Given the description of an element on the screen output the (x, y) to click on. 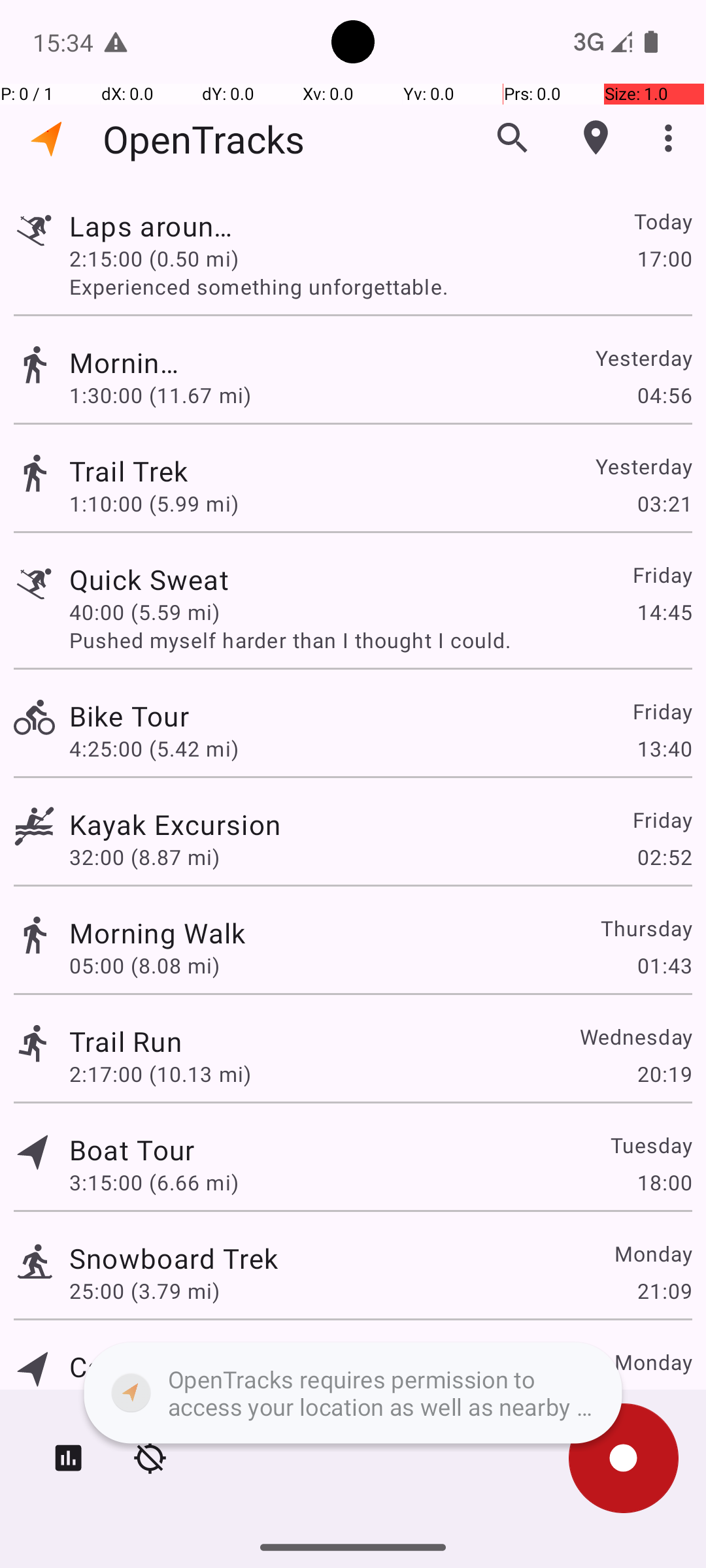
OpenTracks Element type: android.widget.TextView (203, 138)
Markers Element type: android.widget.Button (595, 137)
Record Element type: android.widget.ImageButton (623, 1458)
Track Element type: android.widget.ImageView (33, 227)
Laps around the lake Element type: android.widget.TextView (157, 225)
Today Element type: android.widget.TextView (662, 221)
2:15:00 (0.50 mi) Element type: android.widget.TextView (153, 258)
17:00 Element type: android.widget.TextView (664, 258)
Experienced something unforgettable. Element type: android.widget.TextView (380, 286)
Morning Walk Element type: android.widget.TextView (125, 361)
Yesterday Element type: android.widget.TextView (643, 357)
1:30:00 (11.67 mi) Element type: android.widget.TextView (159, 394)
04:56 Element type: android.widget.TextView (664, 394)
Trail Trek Element type: android.widget.TextView (131, 470)
1:10:00 (5.99 mi) Element type: android.widget.TextView (153, 503)
03:21 Element type: android.widget.TextView (664, 503)
Quick Sweat Element type: android.widget.TextView (173, 578)
Friday Element type: android.widget.TextView (661, 574)
40:00 (5.59 mi) Element type: android.widget.TextView (144, 611)
14:45 Element type: android.widget.TextView (664, 611)
Pushed myself harder than I thought I could. Element type: android.widget.TextView (380, 639)
Bike Tour Element type: android.widget.TextView (198, 715)
4:25:00 (5.42 mi) Element type: android.widget.TextView (153, 748)
13:40 Element type: android.widget.TextView (664, 748)
Kayak Excursion Element type: android.widget.TextView (174, 823)
32:00 (8.87 mi) Element type: android.widget.TextView (144, 856)
02:52 Element type: android.widget.TextView (664, 856)
Thursday Element type: android.widget.TextView (645, 928)
05:00 (8.08 mi) Element type: android.widget.TextView (144, 965)
01:43 Element type: android.widget.TextView (664, 965)
Trail Run Element type: android.widget.TextView (125, 1040)
Wednesday Element type: android.widget.TextView (635, 1036)
2:17:00 (10.13 mi) Element type: android.widget.TextView (159, 1073)
20:19 Element type: android.widget.TextView (664, 1073)
Boat Tour Element type: android.widget.TextView (131, 1149)
Tuesday Element type: android.widget.TextView (650, 1144)
3:15:00 (6.66 mi) Element type: android.widget.TextView (153, 1182)
18:00 Element type: android.widget.TextView (664, 1182)
Snowboard Trek Element type: android.widget.TextView (173, 1257)
Monday Element type: android.widget.TextView (652, 1253)
25:00 (3.79 mi) Element type: android.widget.TextView (144, 1290)
21:09 Element type: android.widget.TextView (664, 1290)
Canoeing Adventure Element type: android.widget.TextView (198, 1366)
46:00 (4.83 mi) Element type: android.widget.TextView (144, 1399)
09:38 Element type: android.widget.TextView (664, 1399)
